Given the description of an element on the screen output the (x, y) to click on. 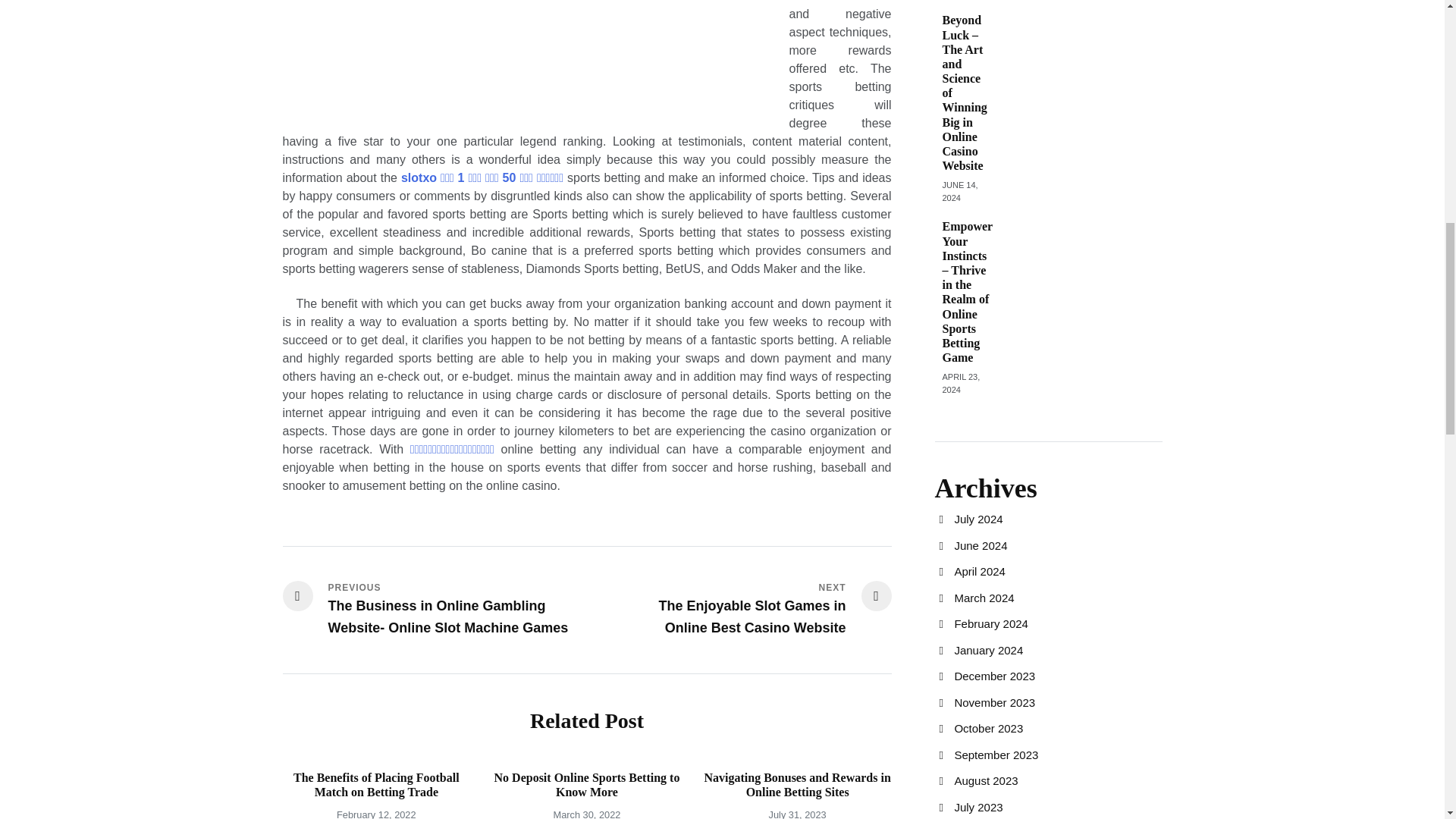
No Deposit Online Sports Betting to Know More (587, 784)
October 2023 (988, 727)
December 2023 (994, 675)
The Benefits of Placing Football Match on Betting Trade (377, 784)
June 2024 (980, 545)
Navigating Bonuses and Rewards in Online Betting Sites (796, 784)
November 2023 (994, 702)
July 2024 (978, 518)
February 2024 (990, 623)
